Given the description of an element on the screen output the (x, y) to click on. 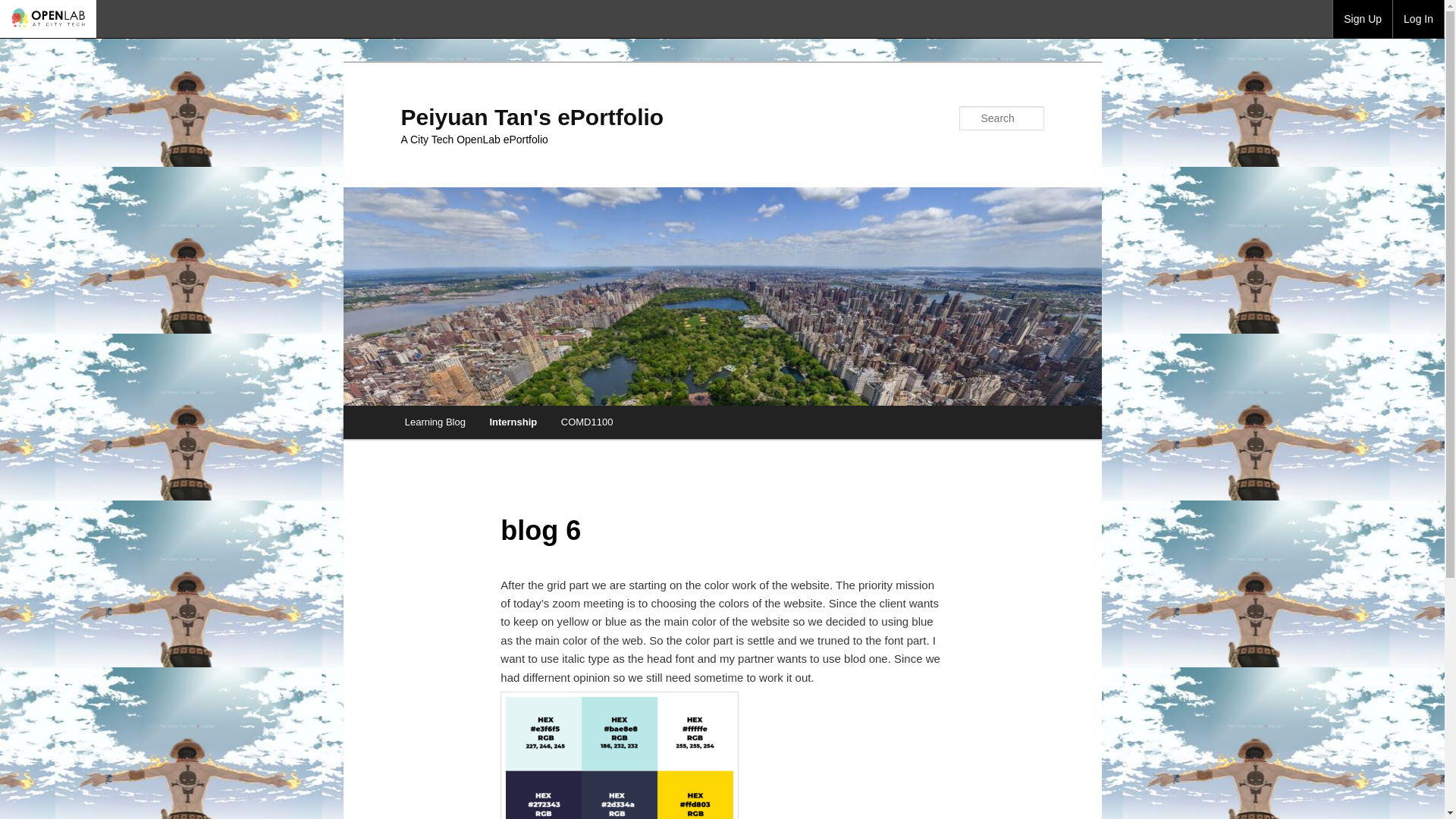
Learning Blog (435, 421)
Peiyuan Tan's ePortfolio (531, 116)
Internship (512, 421)
Sign Up (1362, 18)
Search (24, 8)
